Given the description of an element on the screen output the (x, y) to click on. 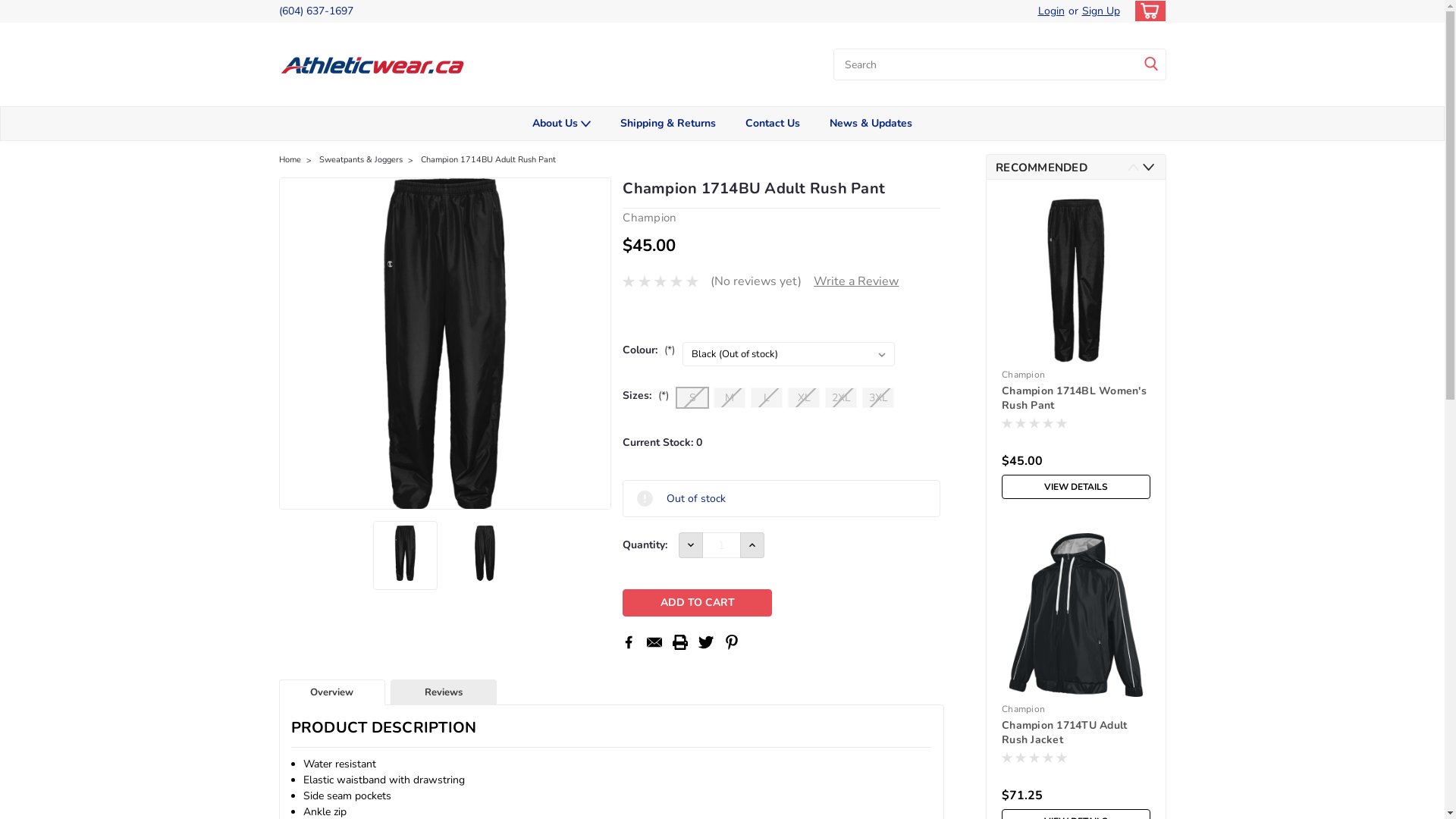
Add to Cart Element type: text (696, 602)
Next Element type: text (1147, 166)
Athleticwear.ca Element type: hover (373, 64)
Black, Back - 1714BU Adult Rush Pant | Athleticwear.ca Element type: hover (484, 552)
Sweatpants & Joggers Element type: text (359, 159)
Champion 1714BU Adult Rush Pant Element type: text (487, 159)
Champion 1714TU Adult Rush Jacket Element type: text (1075, 733)
Black - 1714TU Adult Rush Jacket | Athleticwear.ca Element type: hover (1075, 614)
News & Updates Element type: text (870, 123)
DECREASE QUANTITY: Element type: text (690, 545)
Black - 1714BU Adult Rush Pant | Athleticwear.ca Element type: hover (445, 343)
Champion Element type: text (1022, 374)
Facebook Element type: text (628, 641)
Write a Review Element type: text (855, 281)
Pinterest Element type: text (731, 641)
Email Element type: text (654, 641)
Black - 1714BU Adult Rush Pant | Athleticwear.ca Element type: hover (405, 552)
Previous Element type: text (1132, 166)
Contact Us Element type: text (773, 123)
Twitter Element type: text (705, 641)
Champion Element type: text (649, 217)
Champion 1714BL Women's Rush Pant Element type: text (1075, 398)
Overview Element type: text (332, 692)
About Us Element type: text (561, 123)
Reviews Element type: text (443, 693)
Champion Element type: text (1022, 708)
INCREASE QUANTITY: Element type: text (752, 545)
VIEW DETAILS Element type: text (1075, 486)
Login Element type: text (1050, 11)
Shipping & Returns Element type: text (667, 123)
Black - 1714BL Women's Rush Pant | Athleticwear.ca Element type: hover (1075, 280)
submit Element type: hover (1150, 63)
Home Element type: text (290, 159)
Sign Up Element type: text (1099, 11)
Print Element type: text (679, 641)
